Given the description of an element on the screen output the (x, y) to click on. 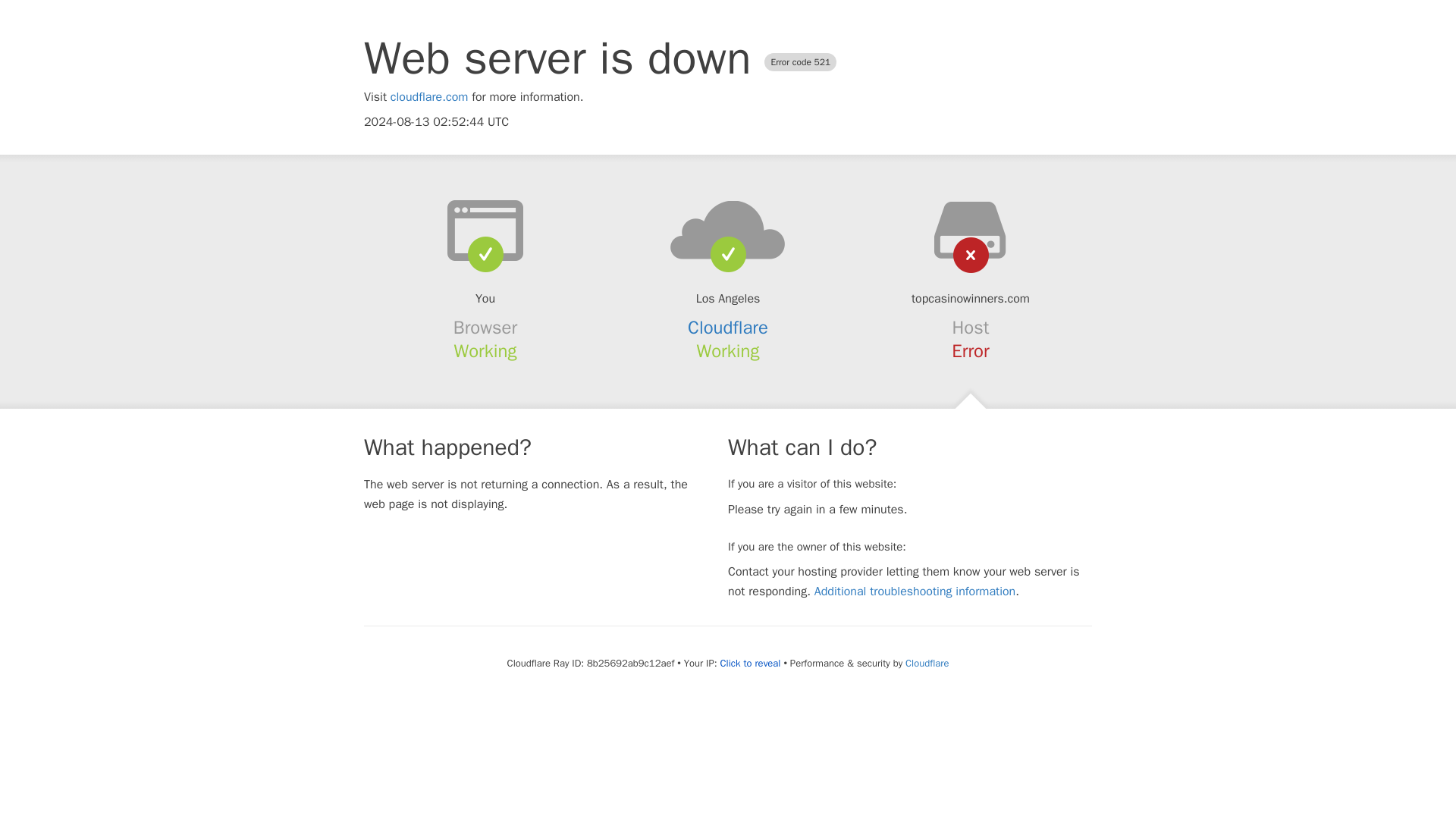
Cloudflare (927, 662)
Additional troubleshooting information (913, 590)
cloudflare.com (429, 96)
Cloudflare (727, 327)
Click to reveal (750, 663)
